Given the description of an element on the screen output the (x, y) to click on. 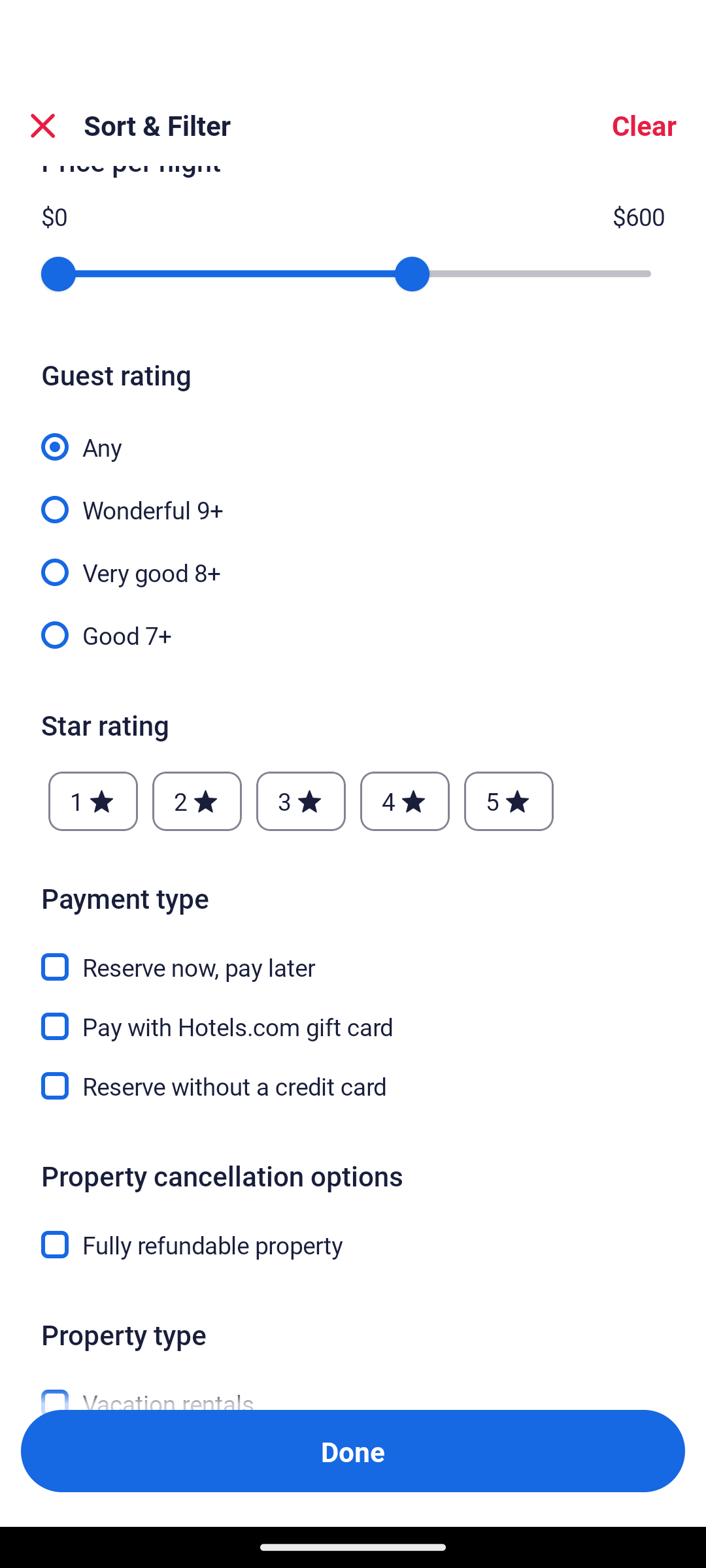
Clear (643, 125)
Close Sort and Filter (43, 125)
Wonderful 9+ (352, 498)
Very good 8+ (352, 560)
Good 7+ (352, 633)
1 (92, 801)
2 (197, 801)
3 (300, 801)
4 (404, 801)
5 (508, 801)
Reserve now, pay later, Reserve now, pay later (352, 956)
Apply and close Sort and Filter Done (352, 1450)
